Given the description of an element on the screen output the (x, y) to click on. 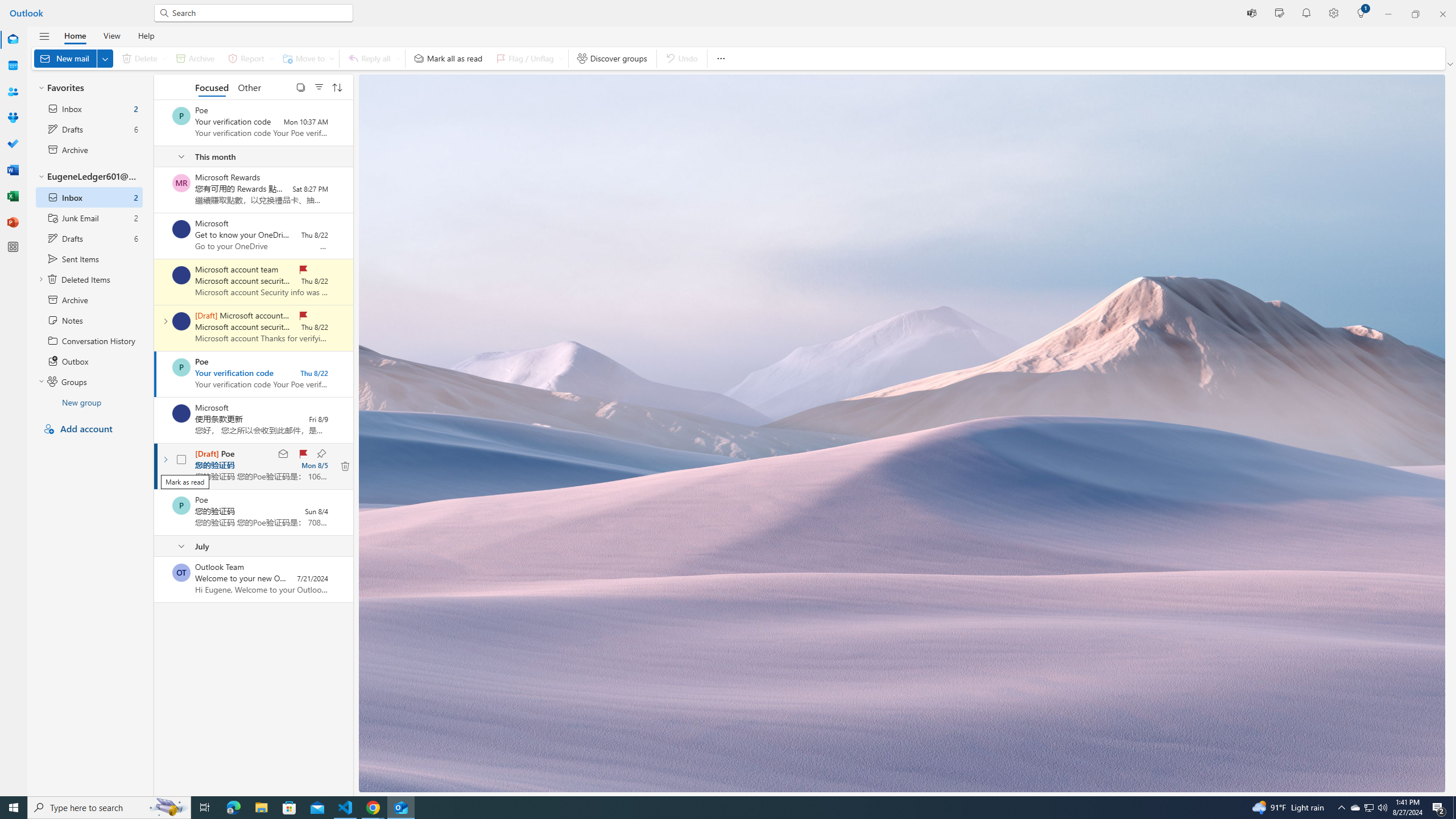
Select a conversation (180, 572)
Microsoft Rewards (180, 182)
AutomationID: checkbox-205 (180, 459)
View (111, 35)
Search for email, meetings, files and more. (258, 12)
Mark as read (282, 453)
Expand to see flag options (561, 58)
More options (720, 58)
Other (248, 86)
Delete (141, 58)
Archive (194, 58)
To Do (12, 143)
